Given the description of an element on the screen output the (x, y) to click on. 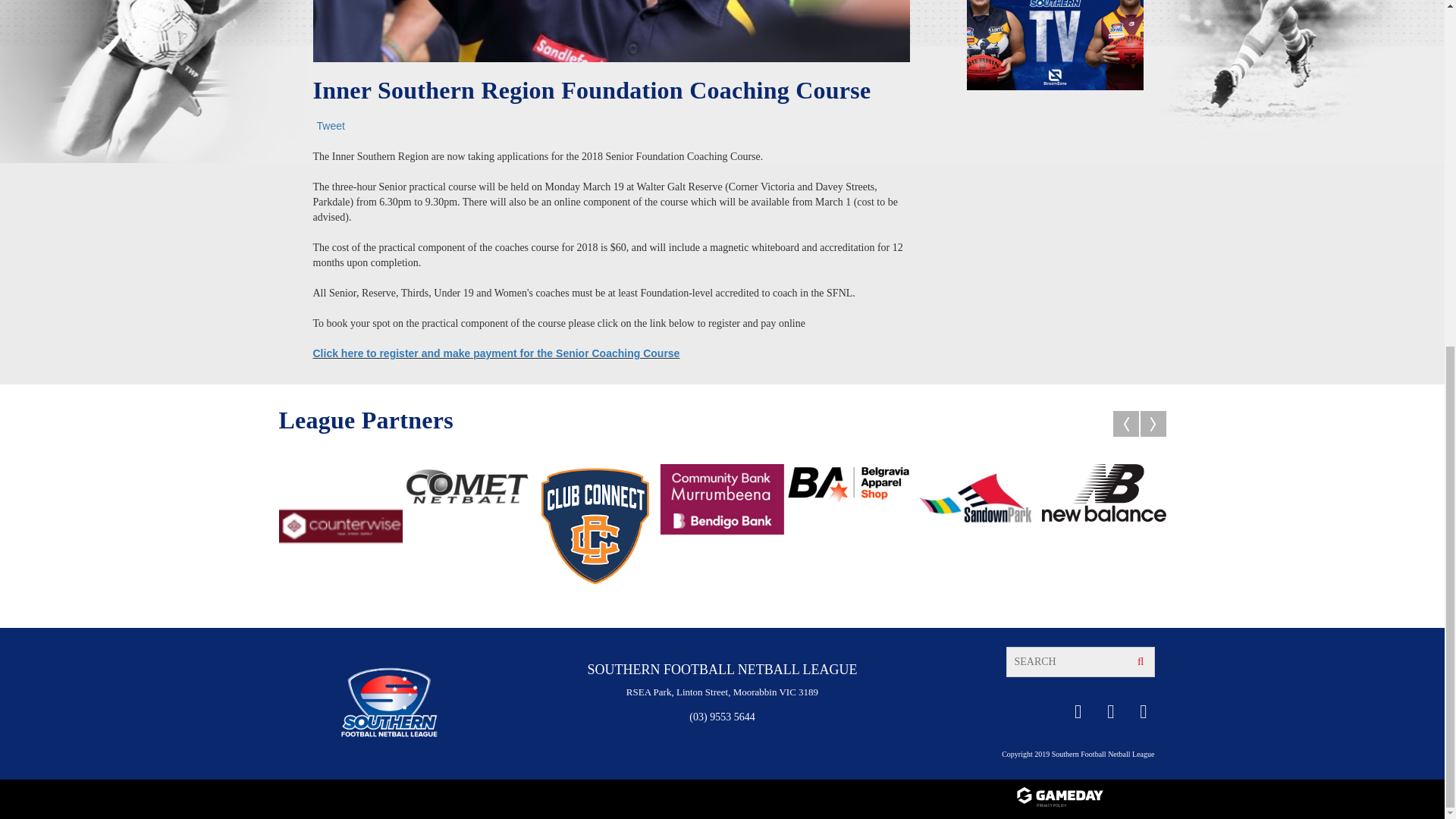
Powered by SportsTG (1090, 797)
SportsTG Privacy Policy (1090, 808)
Match Replays (1054, 3)
